Given the description of an element on the screen output the (x, y) to click on. 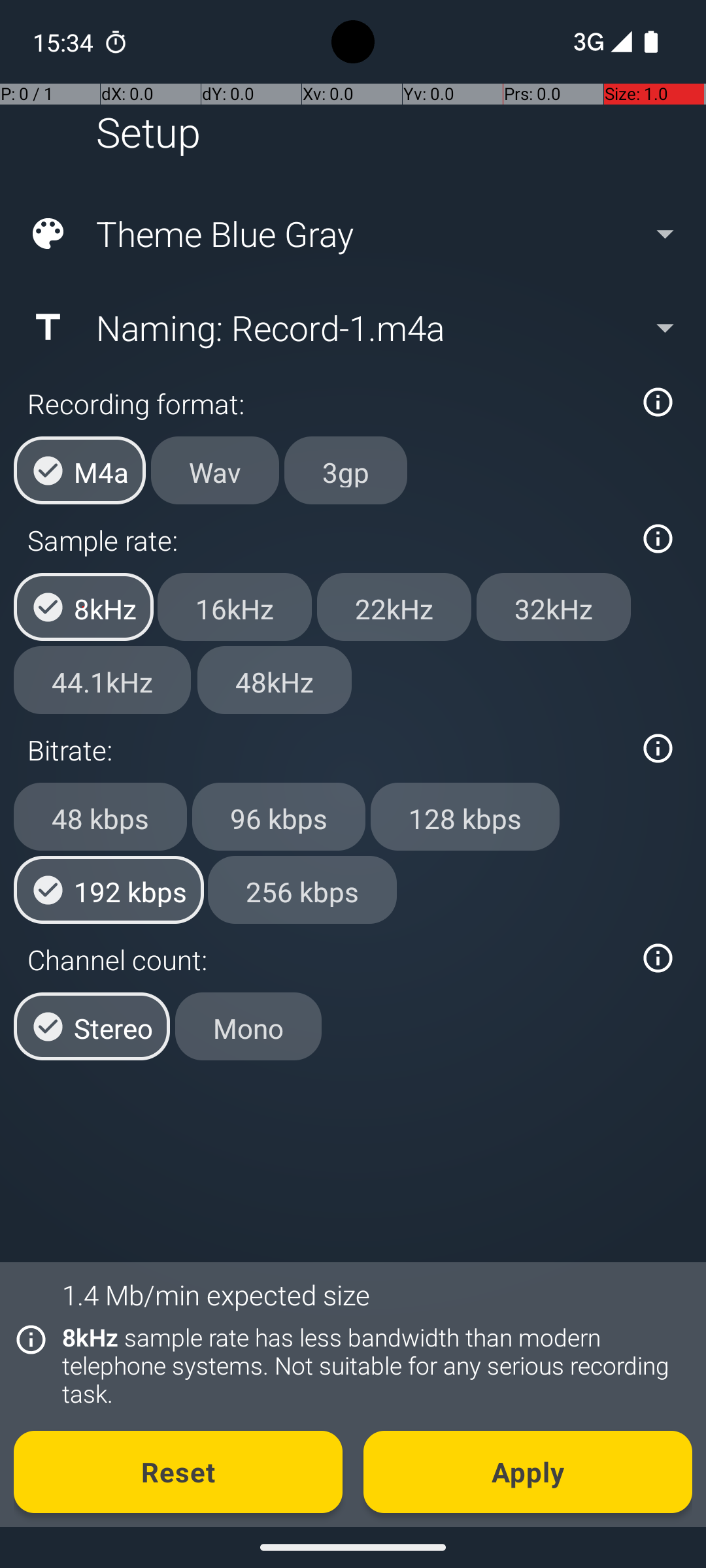
1.4 Mb/min expected size Element type: android.widget.TextView (215, 1294)
8kHz sample rate has less bandwidth than modern telephone systems. Not suitable for any serious recording task. Element type: android.widget.TextView (370, 1364)
3G Element type: android.widget.ImageView (587, 41)
